Given the description of an element on the screen output the (x, y) to click on. 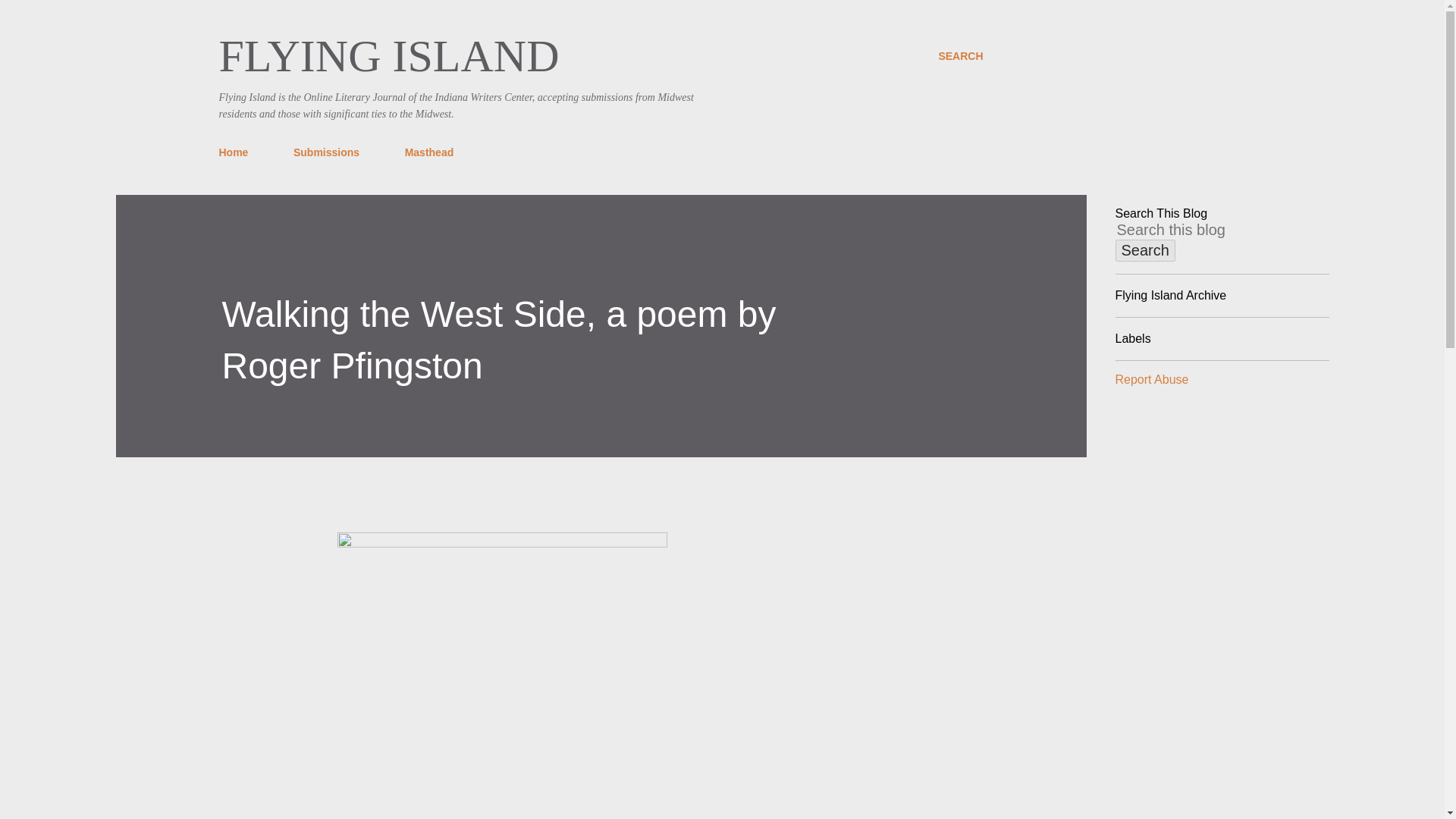
Home (237, 152)
SEARCH (959, 55)
FLYING ISLAND (388, 56)
Submissions (325, 152)
Search (1144, 250)
Search (1144, 250)
Search (1144, 250)
Masthead (429, 152)
